Given the description of an element on the screen output the (x, y) to click on. 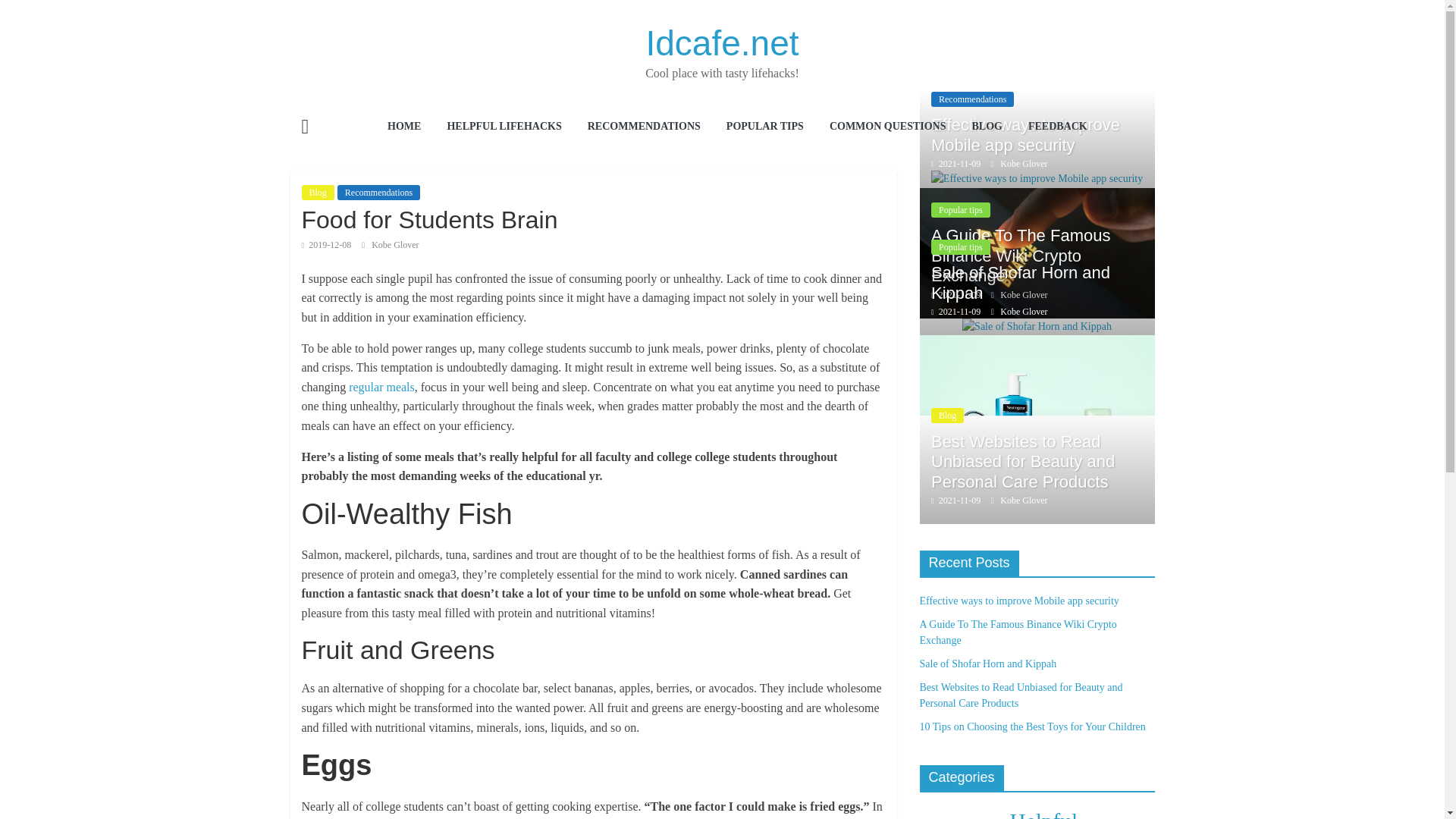
02:52 (955, 163)
Recommendations (378, 192)
Blog (317, 192)
Effective ways to improve Mobile app security (1025, 134)
A Guide To The Famous Binance Wiki Crypto Exchange (1036, 195)
BLOG (986, 126)
Recommendations (972, 99)
Sale of Shofar Horn and Kippah (1020, 282)
Kobe Glover (1023, 163)
A Guide To The Famous Binance Wiki Crypto Exchange (1036, 253)
